Given the description of an element on the screen output the (x, y) to click on. 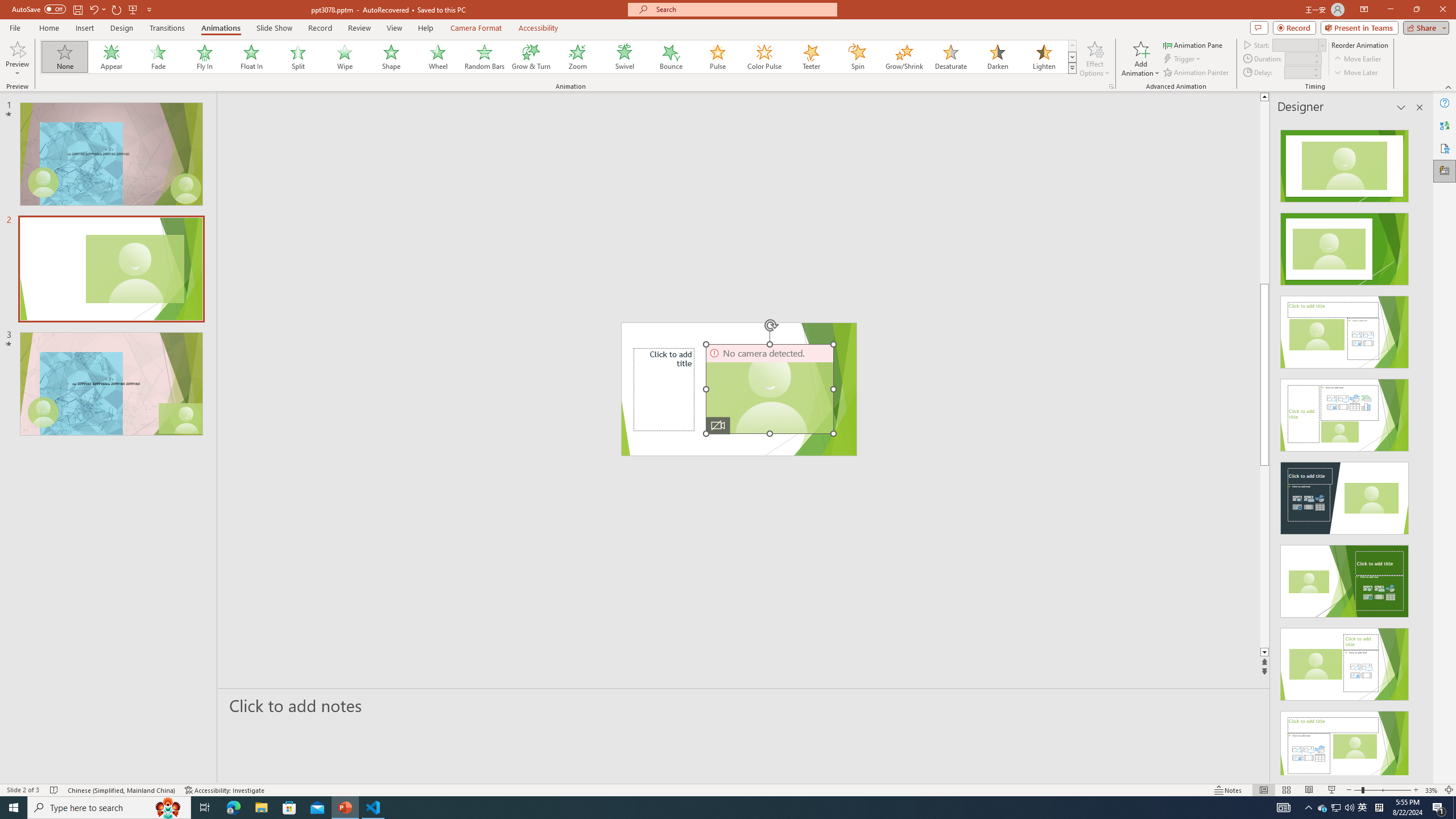
Animation Duration (1298, 58)
Animation Painter (1196, 72)
Darken (997, 56)
Desaturate (950, 56)
Grow & Turn (531, 56)
